Given the description of an element on the screen output the (x, y) to click on. 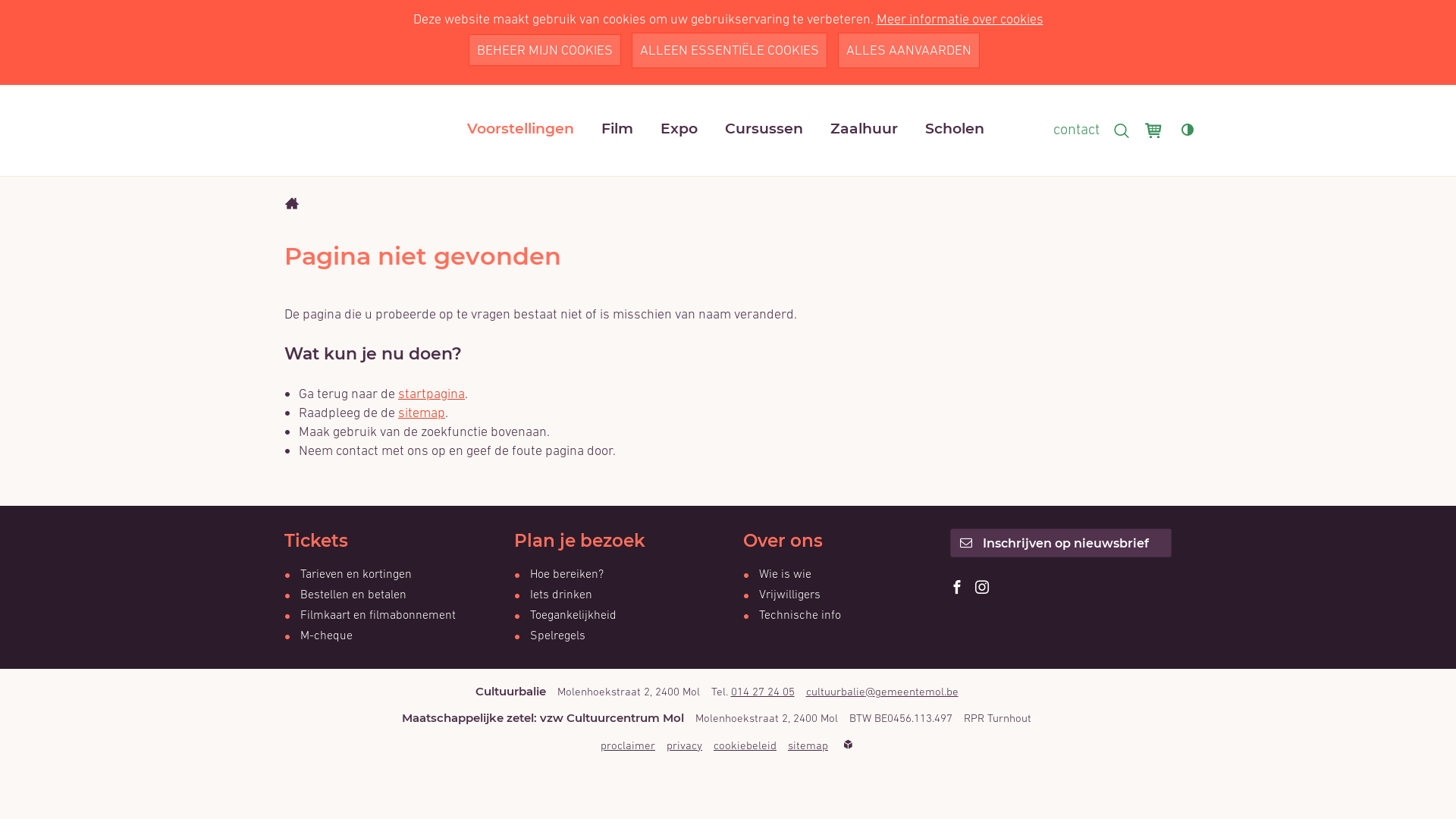
Zaalhuur Element type: text (863, 128)
Cultuurcentrum Mol Element type: text (348, 130)
ALLES AANVAARDEN Element type: text (908, 49)
Over ons Element type: text (846, 546)
Iets drinken Element type: text (553, 593)
Film Element type: text (616, 128)
Expo Element type: text (678, 128)
Vrijwilligers Element type: text (781, 593)
Cursussen Element type: text (763, 128)
ZOEKEN Element type: text (1122, 130)
privacy Element type: text (684, 745)
Volg ons op Facebook Element type: text (956, 587)
Meer informatie over cookies Element type: text (959, 17)
Hoe bereiken? Element type: text (558, 572)
Plan je bezoek Element type: text (617, 546)
proclaimer Element type: text (627, 745)
Home Element type: text (291, 203)
Filmkaart en filmabonnement Element type: text (369, 613)
Scholen Element type: text (954, 128)
Winkelmandje Element type: text (1156, 133)
M-cheque Element type: text (318, 634)
Wie is wie Element type: text (777, 572)
cookiebeleid Element type: text (744, 745)
Tarieven en kortingen Element type: text (347, 572)
cultuurbalie@gemeentemol.be Element type: text (881, 691)
contact Element type: text (1076, 129)
014 27 24 05 Element type: text (762, 690)
BEHEER MIJN COOKIES Element type: text (544, 49)
startpagina Element type: text (431, 393)
Volg ons op Instagram Element type: text (981, 587)
Tickets Element type: text (387, 546)
Voorstellingen Element type: text (520, 128)
Toegankelijkheid Element type: text (565, 613)
Technische info Element type: text (791, 613)
sitemap Element type: text (807, 745)
sitemap Element type: text (421, 412)
Spelregels Element type: text (549, 634)
Bestellen en betalen Element type: text (345, 593)
Inschrijven op nieuwsbrief Element type: text (1060, 542)
